Given the description of an element on the screen output the (x, y) to click on. 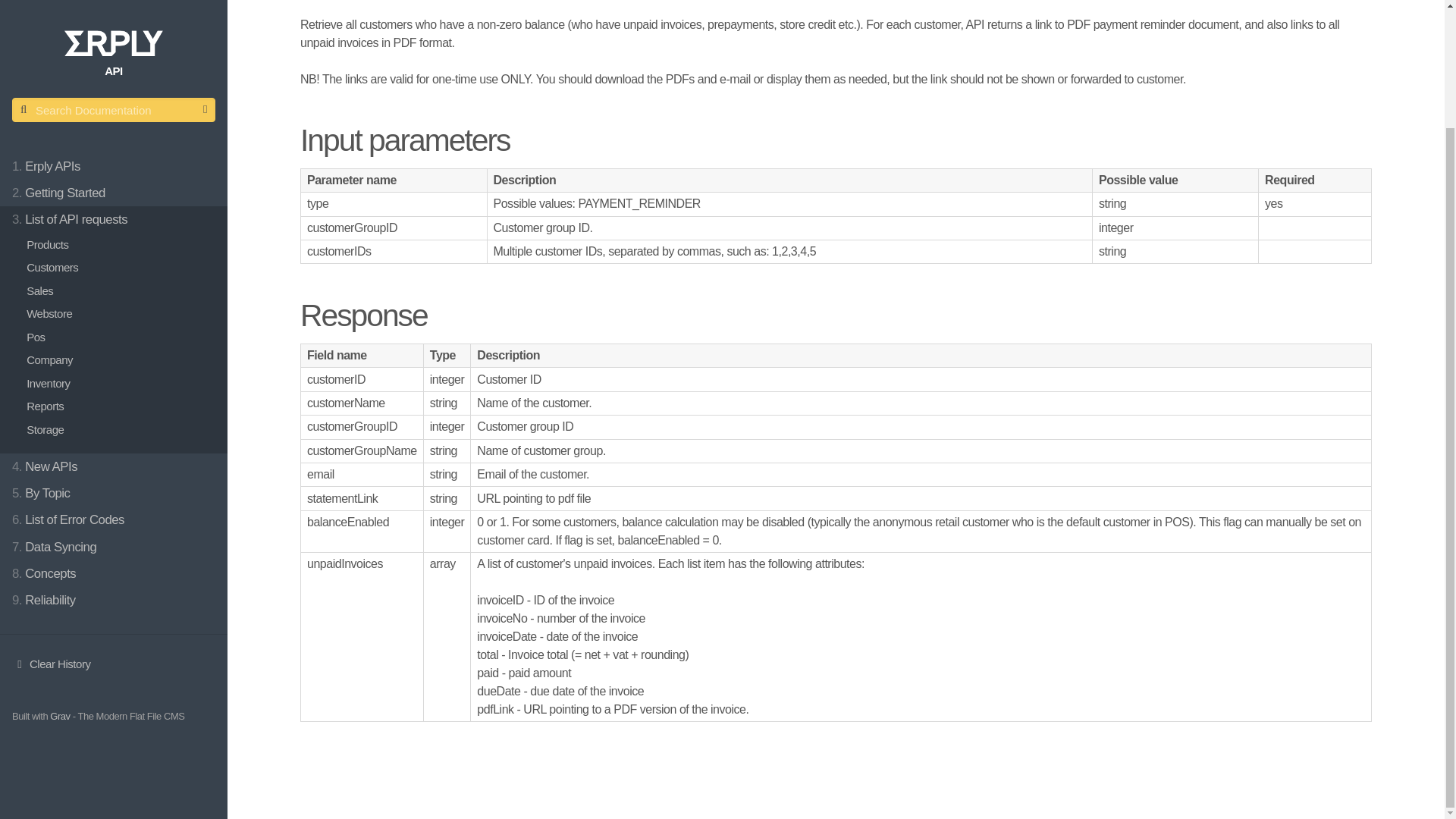
Webstore (119, 173)
Reports (119, 266)
7. Data Syncing (113, 406)
Company (119, 219)
8. Concepts (113, 433)
4. New APIs (113, 325)
Products (119, 105)
Customers (119, 127)
Storage (119, 290)
6. List of Error Codes (113, 379)
